Given the description of an element on the screen output the (x, y) to click on. 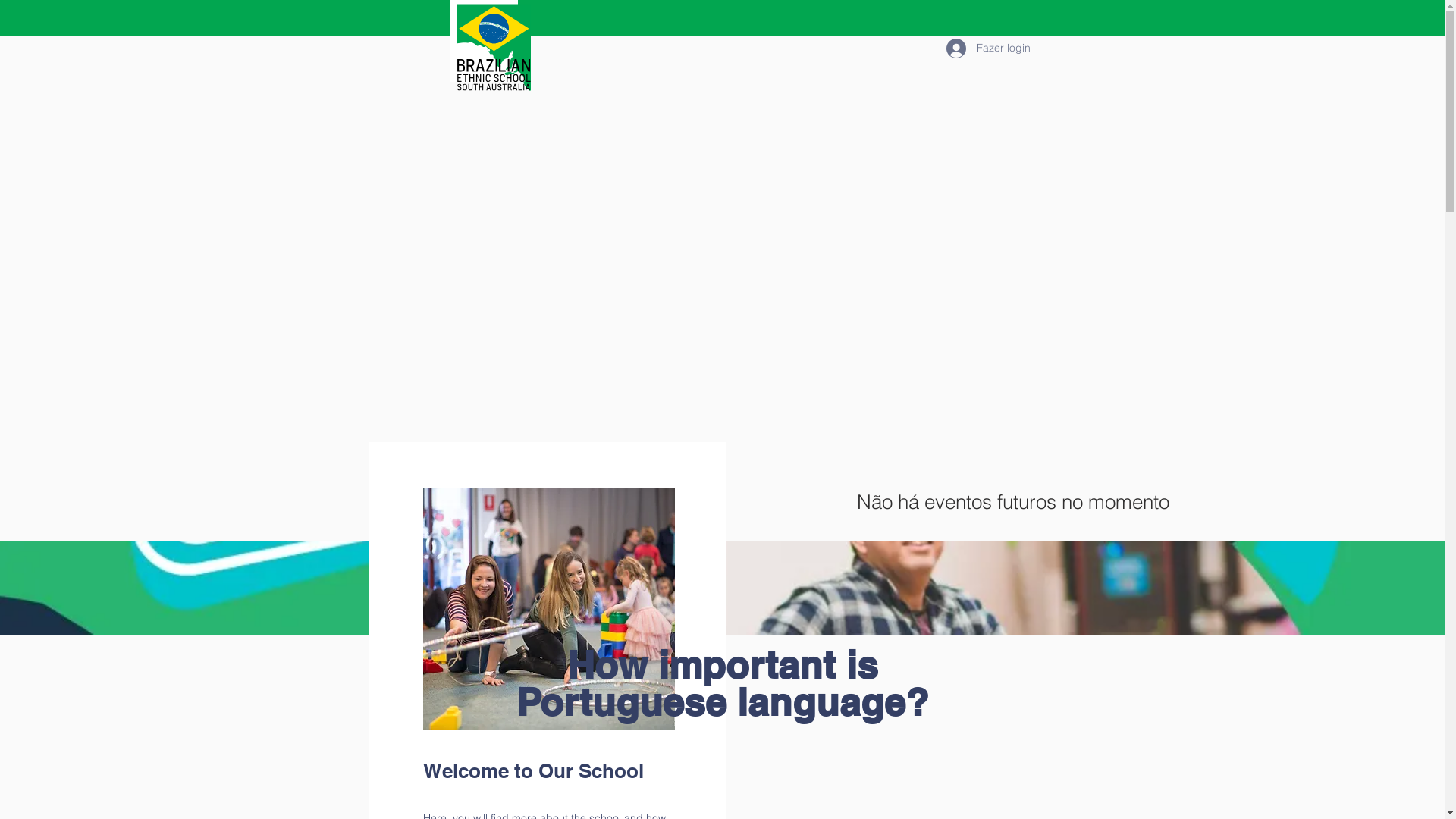
Fazer login Element type: text (980, 47)
